Given the description of an element on the screen output the (x, y) to click on. 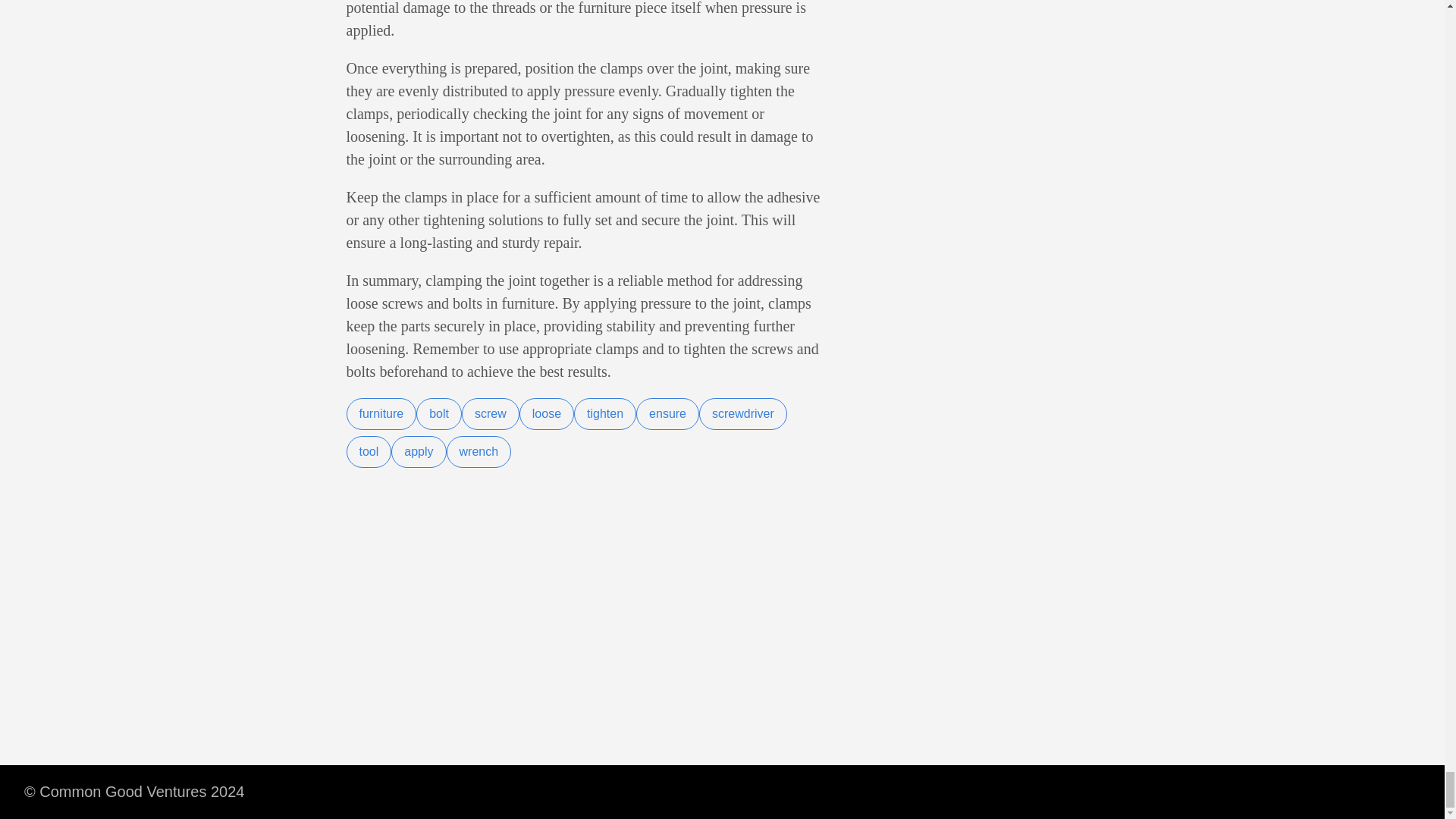
ensure (667, 413)
apply (418, 451)
furniture (381, 413)
tighten (604, 413)
tool (368, 451)
screw (490, 413)
wrench (479, 451)
screwdriver (742, 413)
bolt (438, 413)
loose (546, 413)
